Given the description of an element on the screen output the (x, y) to click on. 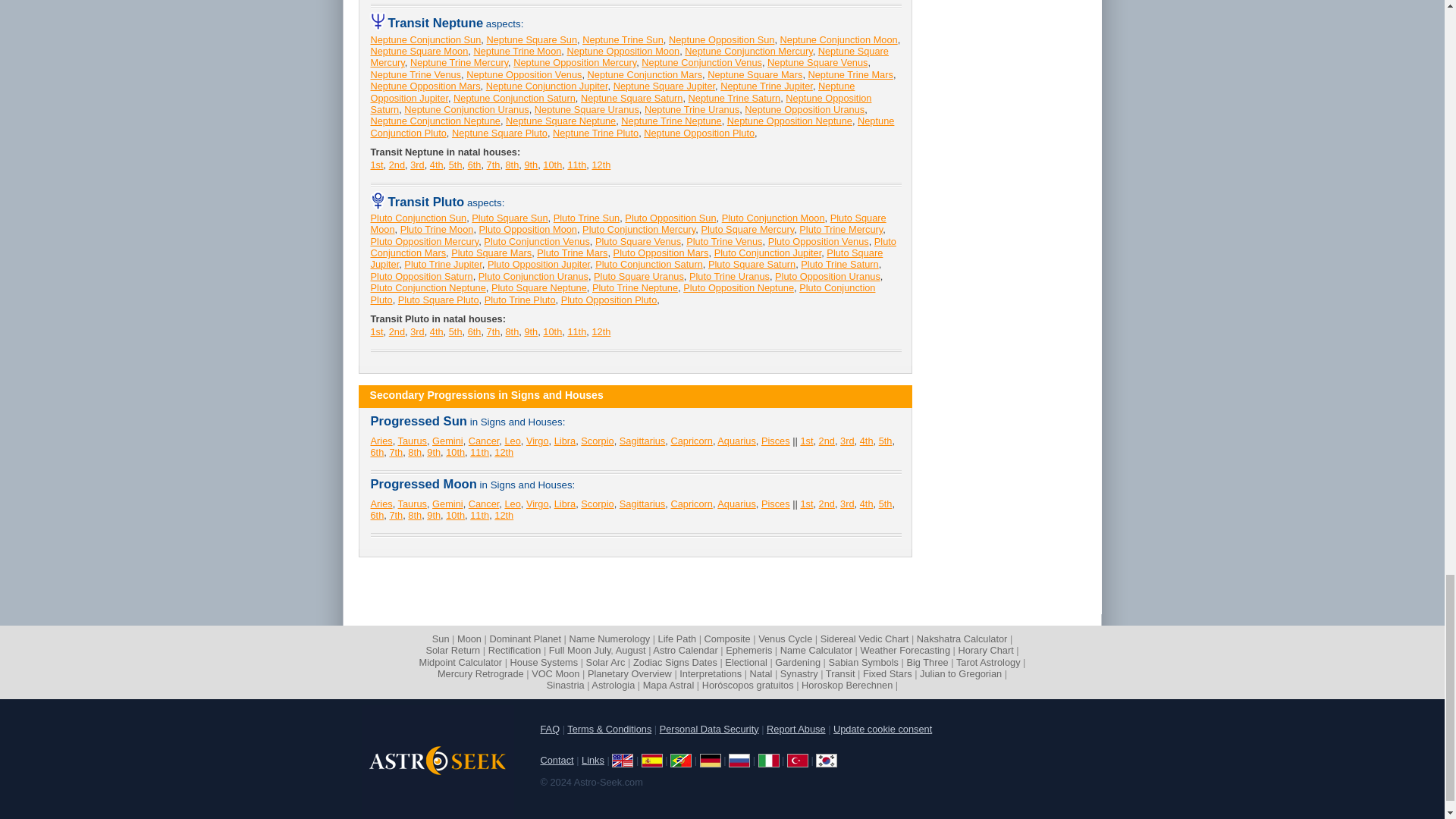
Italiano (768, 760)
Deutsch (710, 760)
English (622, 760)
